Given the description of an element on the screen output the (x, y) to click on. 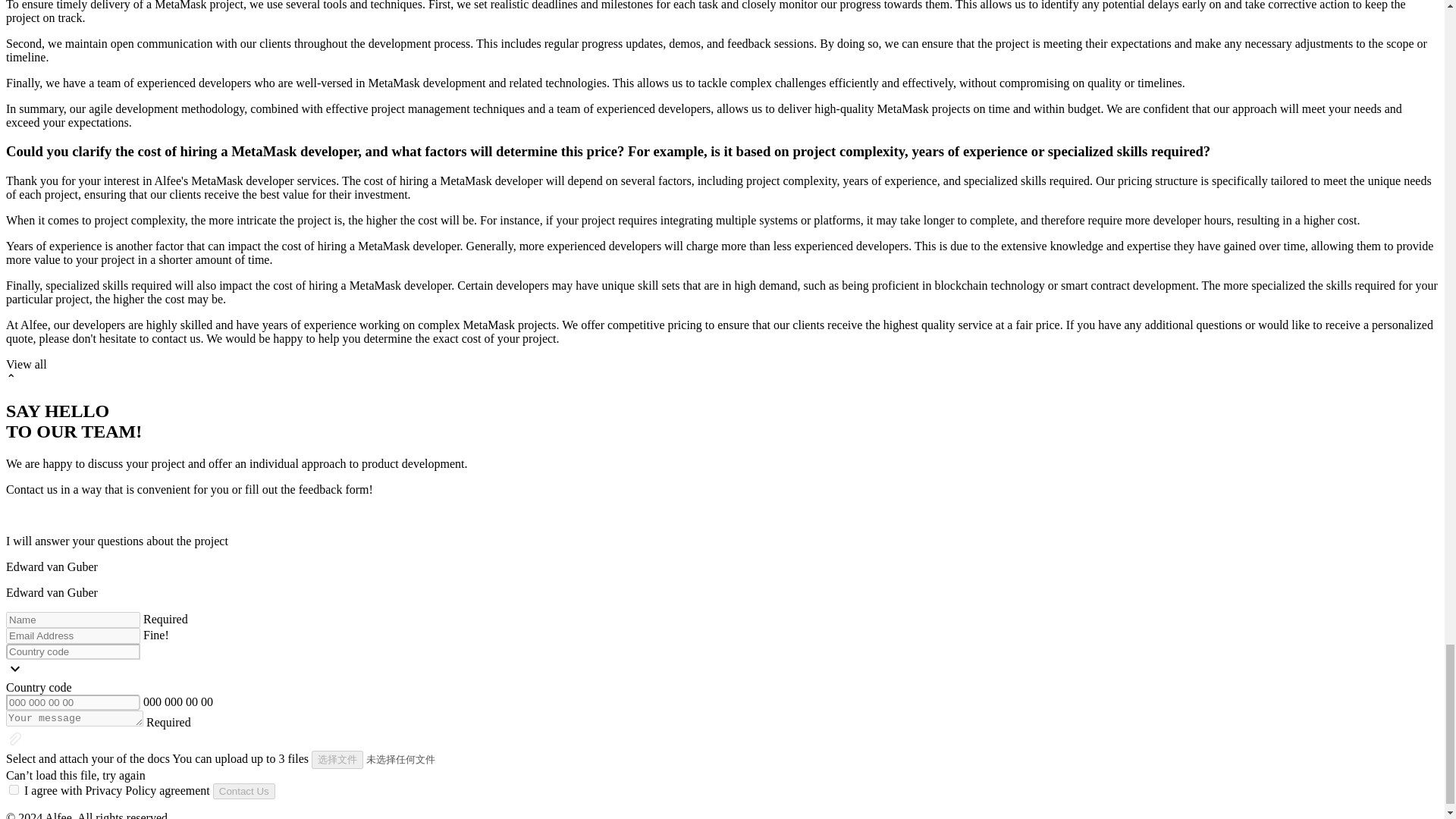
on (13, 789)
Contact Us (243, 790)
